Given the description of an element on the screen output the (x, y) to click on. 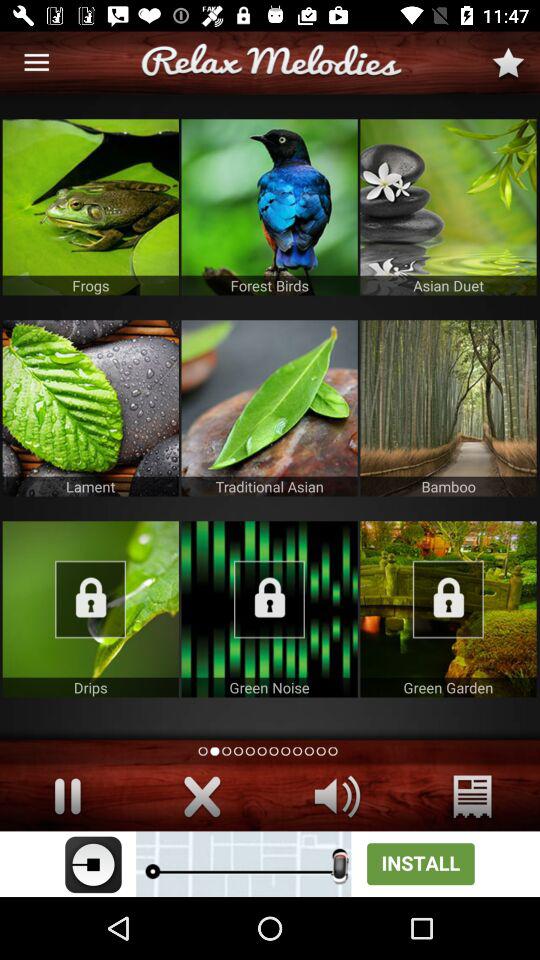
install uber app (270, 864)
